Given the description of an element on the screen output the (x, y) to click on. 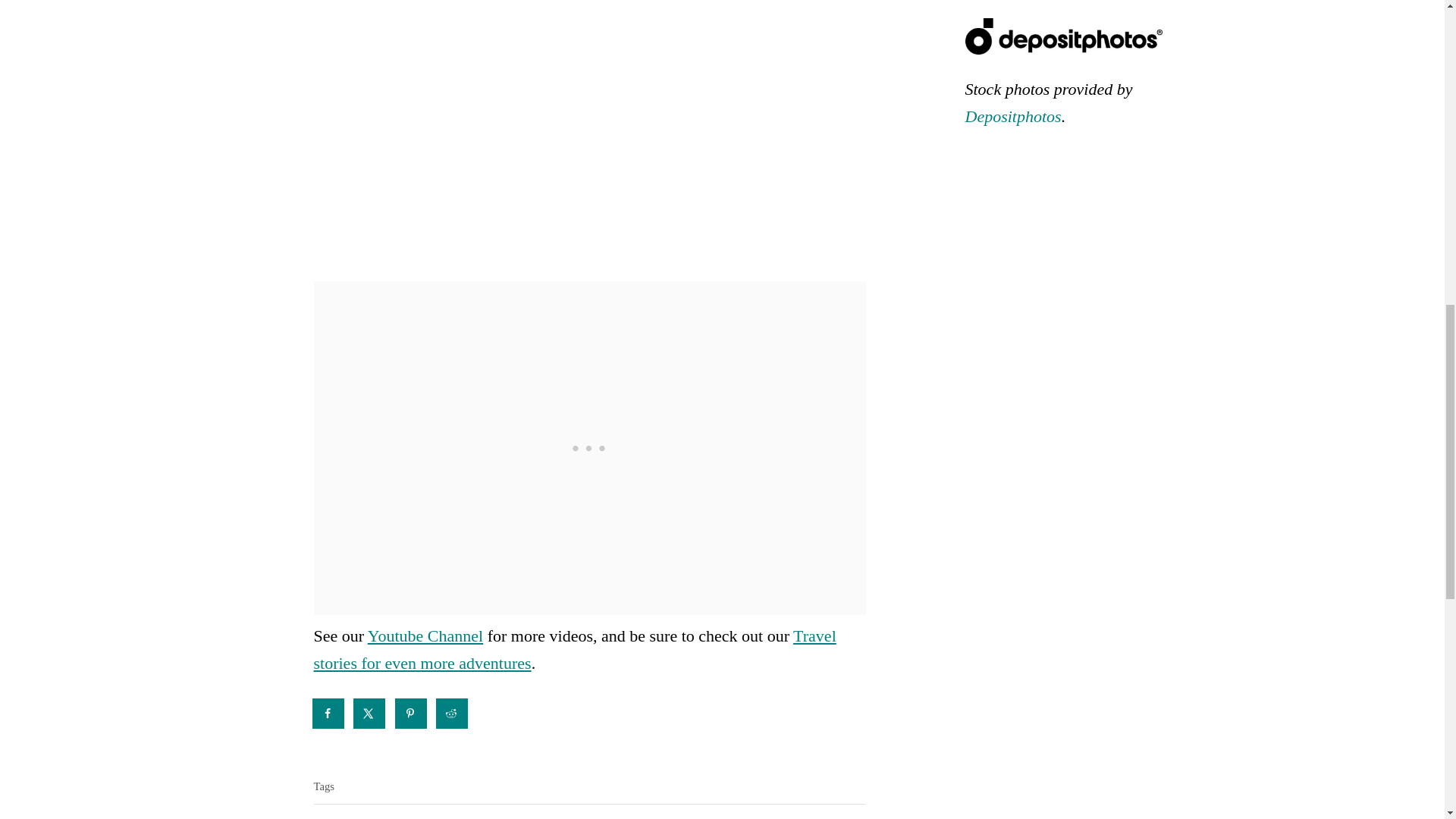
Share on Reddit (452, 713)
Save to Pinterest (411, 713)
Share on X (370, 713)
Share on Facebook (328, 713)
